Given the description of an element on the screen output the (x, y) to click on. 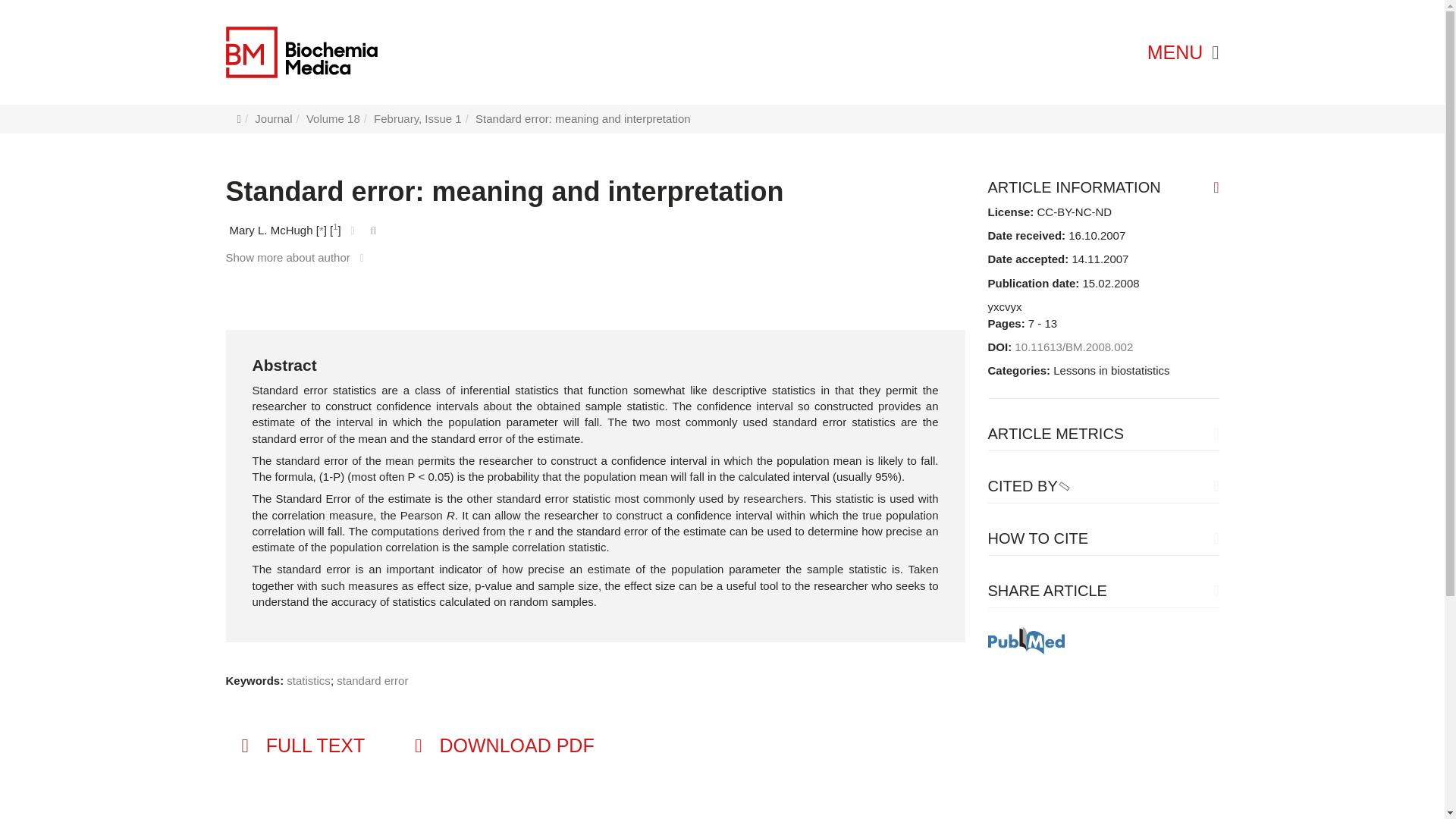
statistics (308, 680)
ARTICLE INFORMATION (1102, 187)
February, Issue 1 (417, 118)
Biochemia Medica (301, 51)
Volume 18 (332, 118)
Show more about author (298, 256)
standard error (371, 680)
MENU (1183, 52)
Biochemia Medica (341, 51)
Search articles by keyword: standard error (371, 680)
